Given the description of an element on the screen output the (x, y) to click on. 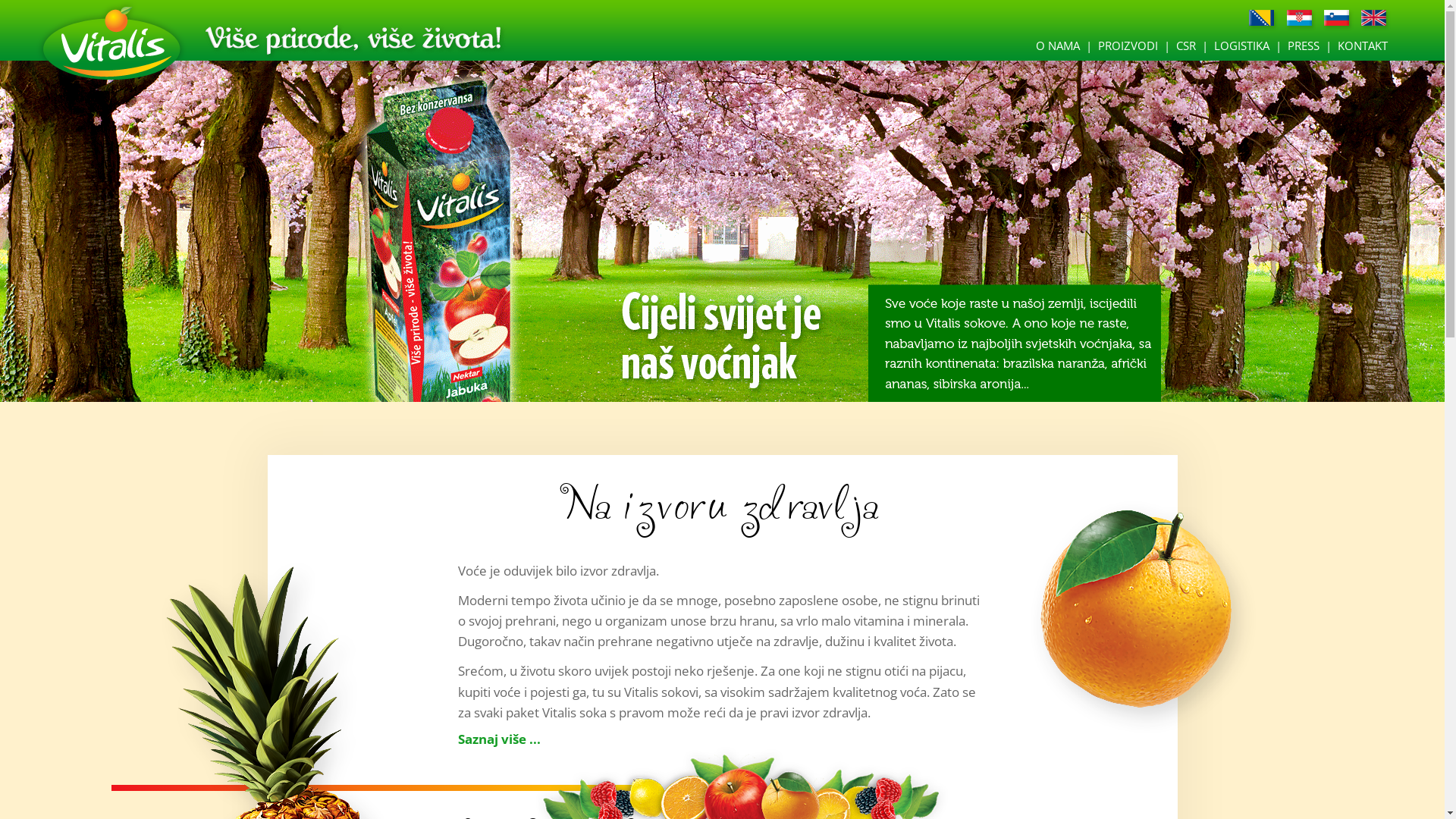
O NAMA Element type: text (1057, 45)
CSR Element type: text (1185, 45)
PRESS Element type: text (1303, 45)
LOGISTIKA Element type: text (1241, 45)
PROIZVODI Element type: text (1127, 45)
KONTAKT Element type: text (1362, 45)
